Given the description of an element on the screen output the (x, y) to click on. 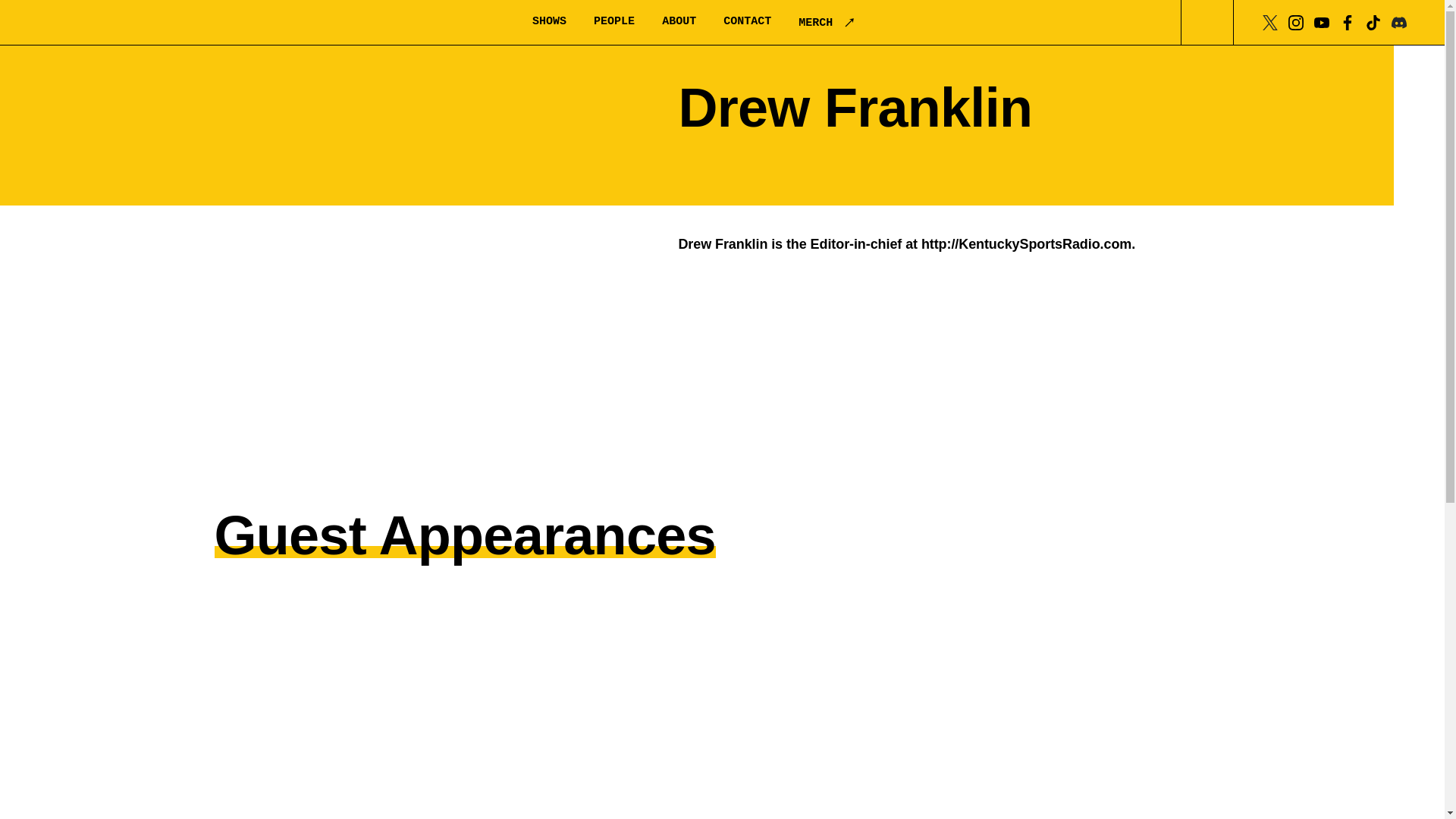
Tiktok (1372, 21)
SHOWS (549, 21)
Instagram (1295, 21)
YouTube (1321, 21)
CONTACT (747, 21)
ABOUT (678, 21)
PEOPLE (614, 21)
Earwolf (118, 22)
Toggle Search (1206, 22)
Facebook (1347, 21)
